Given the description of an element on the screen output the (x, y) to click on. 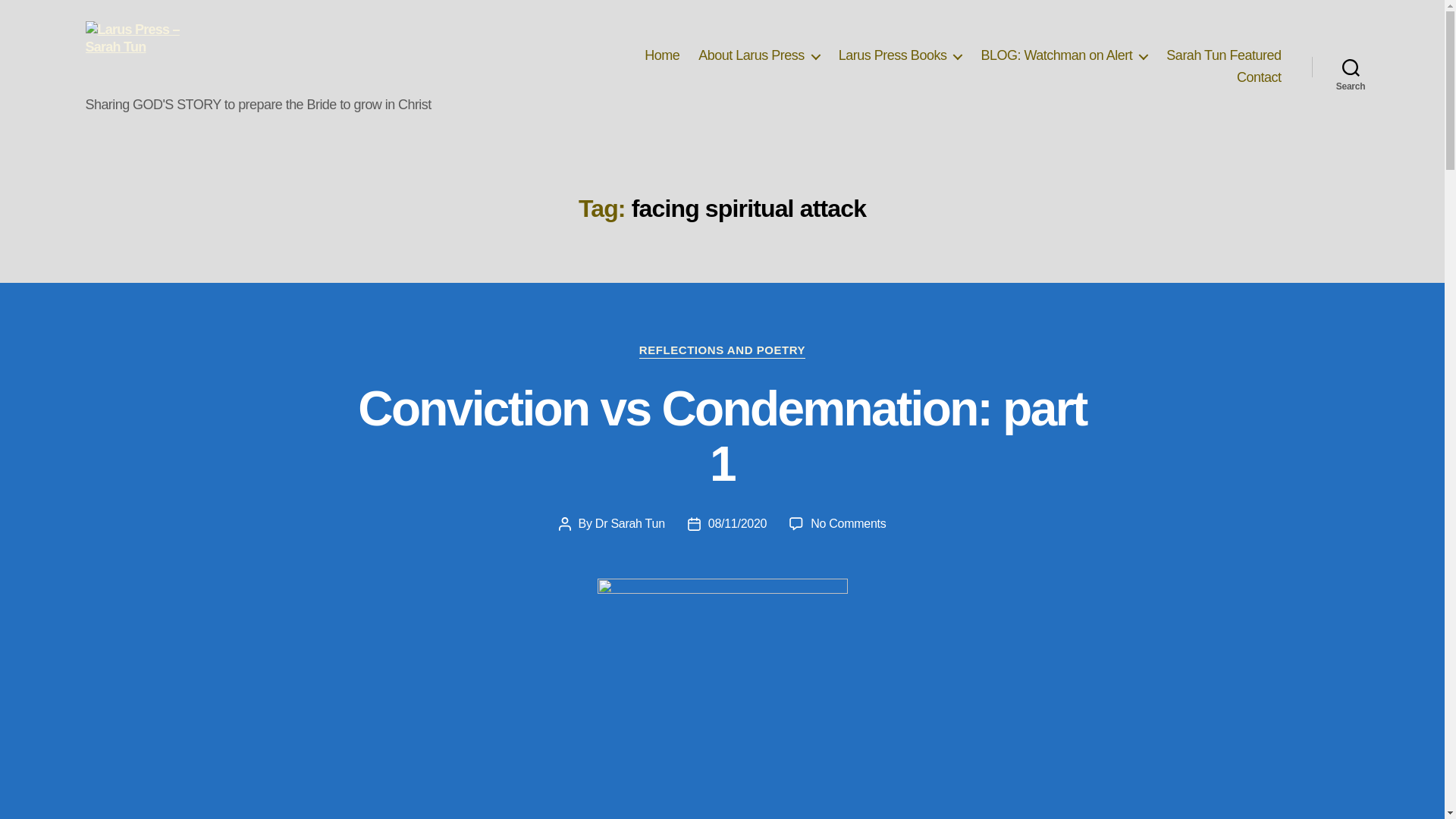
BLOG: Watchman on Alert (1063, 55)
About Larus Press (758, 55)
Contact (1258, 77)
Home (662, 55)
Sarah Tun Featured (1223, 55)
Larus Press Books (900, 55)
Search (1350, 66)
